Given the description of an element on the screen output the (x, y) to click on. 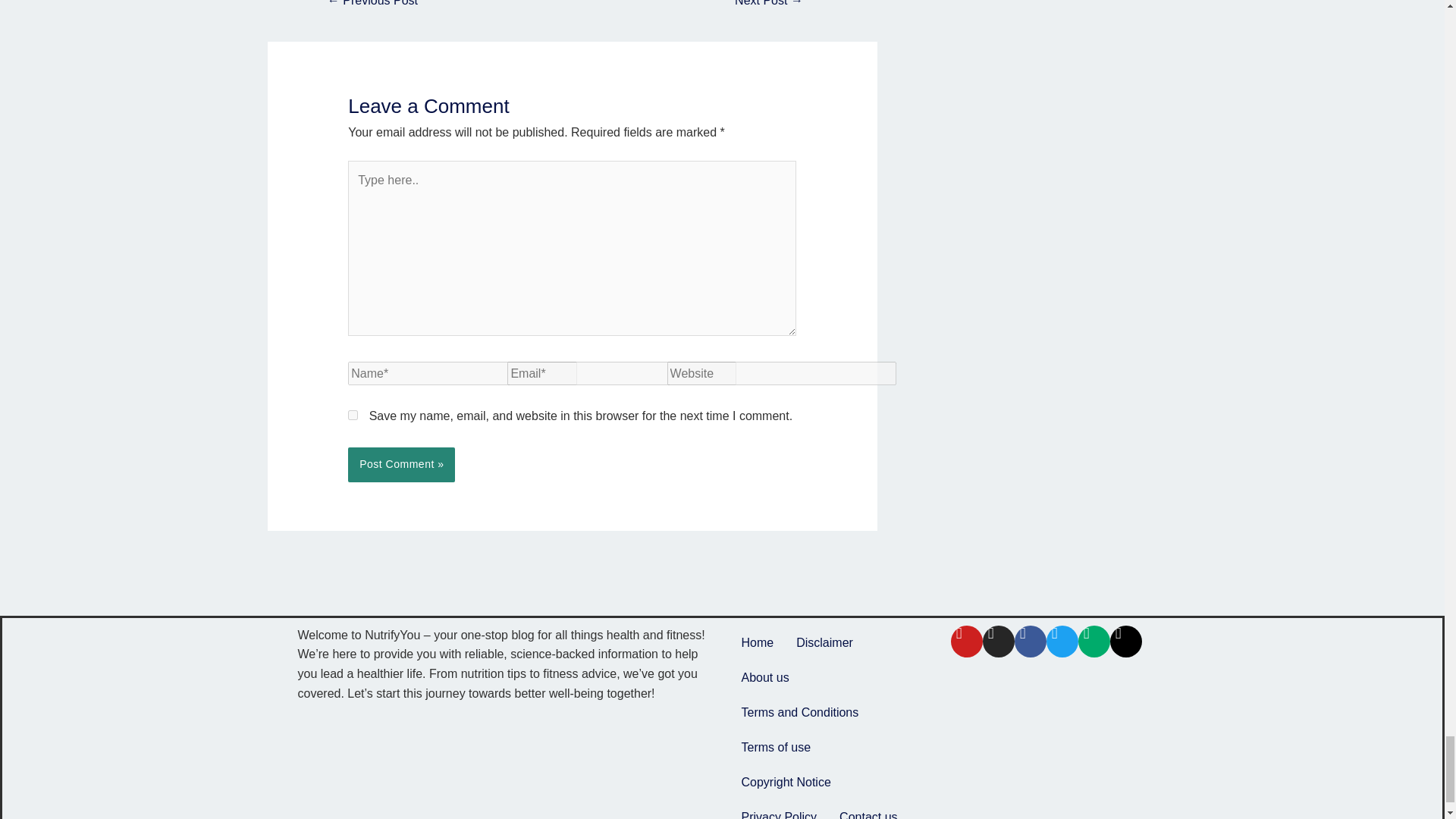
yes (352, 415)
